Given the description of an element on the screen output the (x, y) to click on. 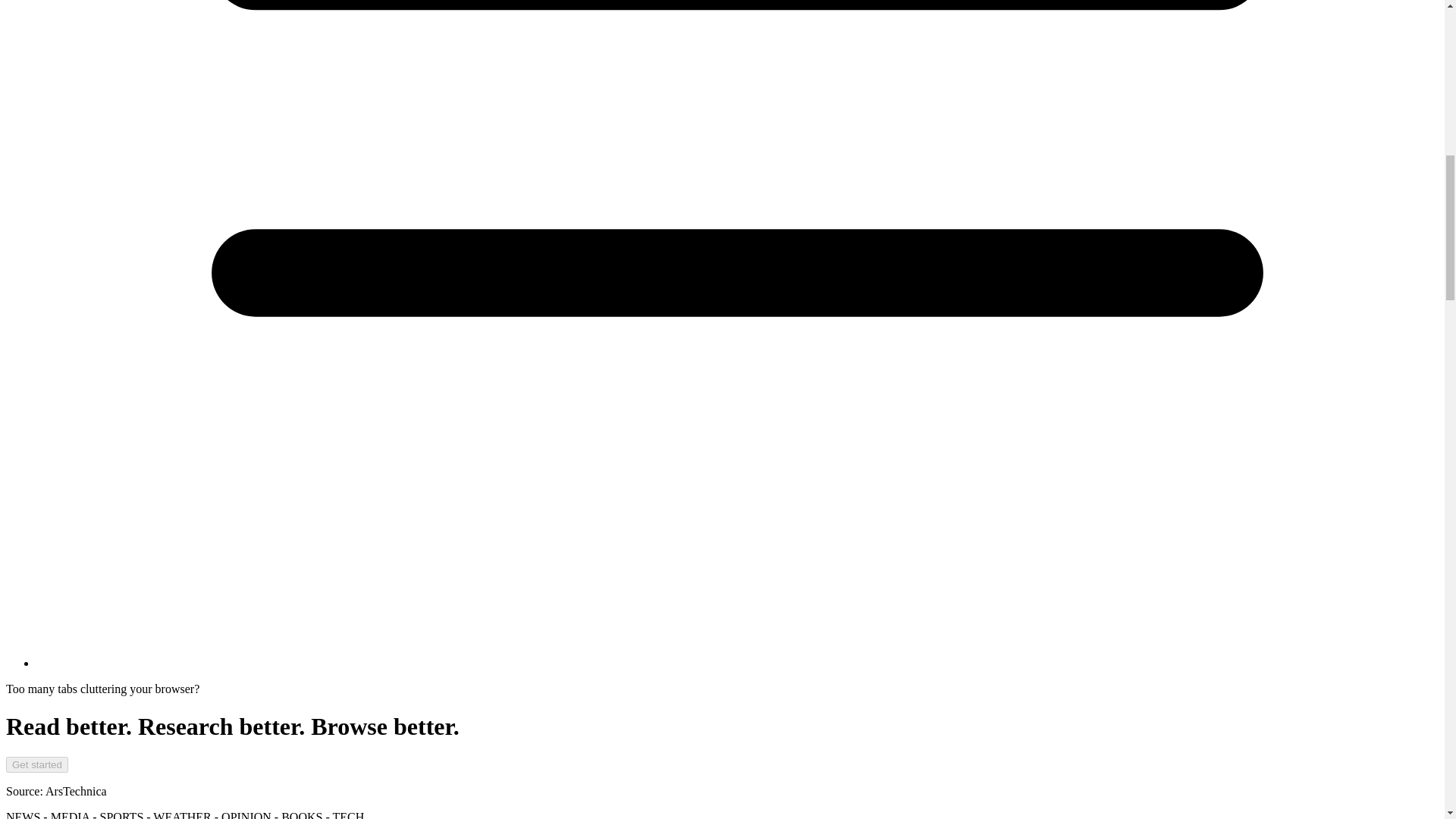
Get started (36, 764)
Get started (36, 763)
